Given the description of an element on the screen output the (x, y) to click on. 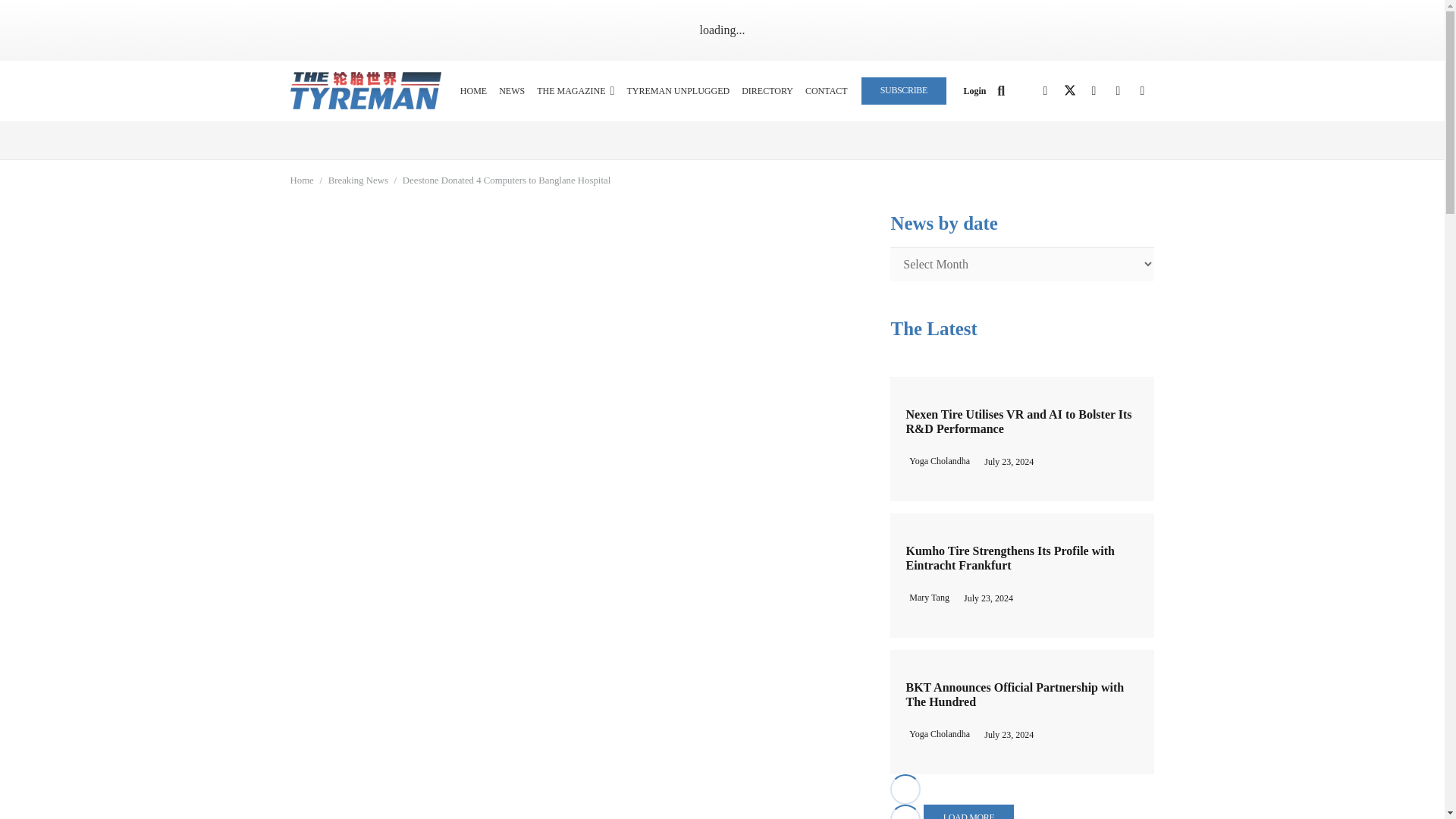
Deestone Donated 4 Computers to Banglane Hospital (506, 180)
SUBSCRIBE (904, 90)
Login (973, 90)
LinkedIn (1093, 90)
Facebook (1044, 90)
TYREMAN UNPLUGGED (677, 90)
DIRECTORY (767, 90)
CONTACT (826, 90)
Breaking News (358, 180)
Twitter (1069, 90)
